Given the description of an element on the screen output the (x, y) to click on. 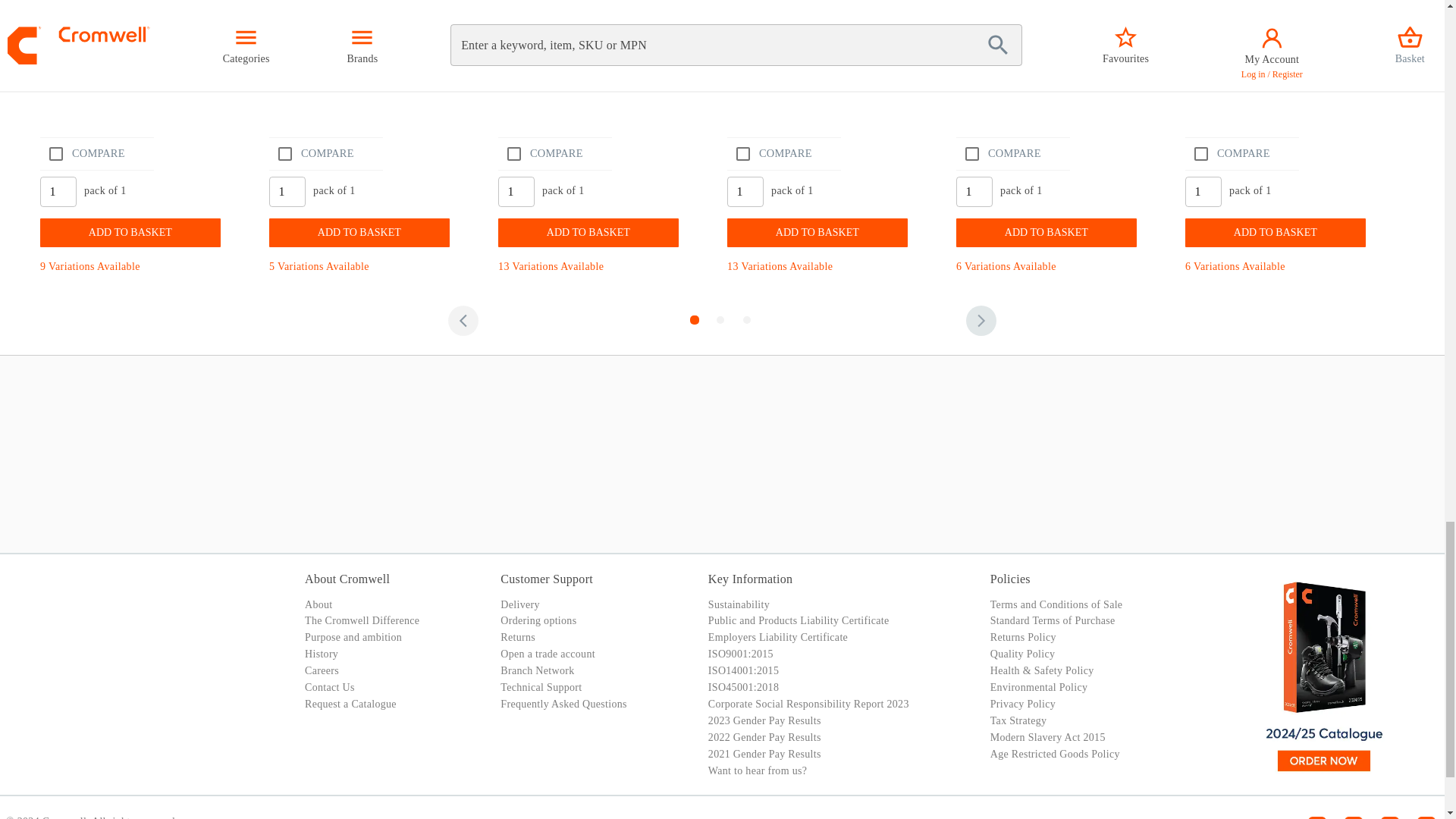
1 (974, 191)
1 (1203, 191)
1 (515, 191)
1 (58, 191)
1 (287, 191)
1 (744, 191)
